Given the description of an element on the screen output the (x, y) to click on. 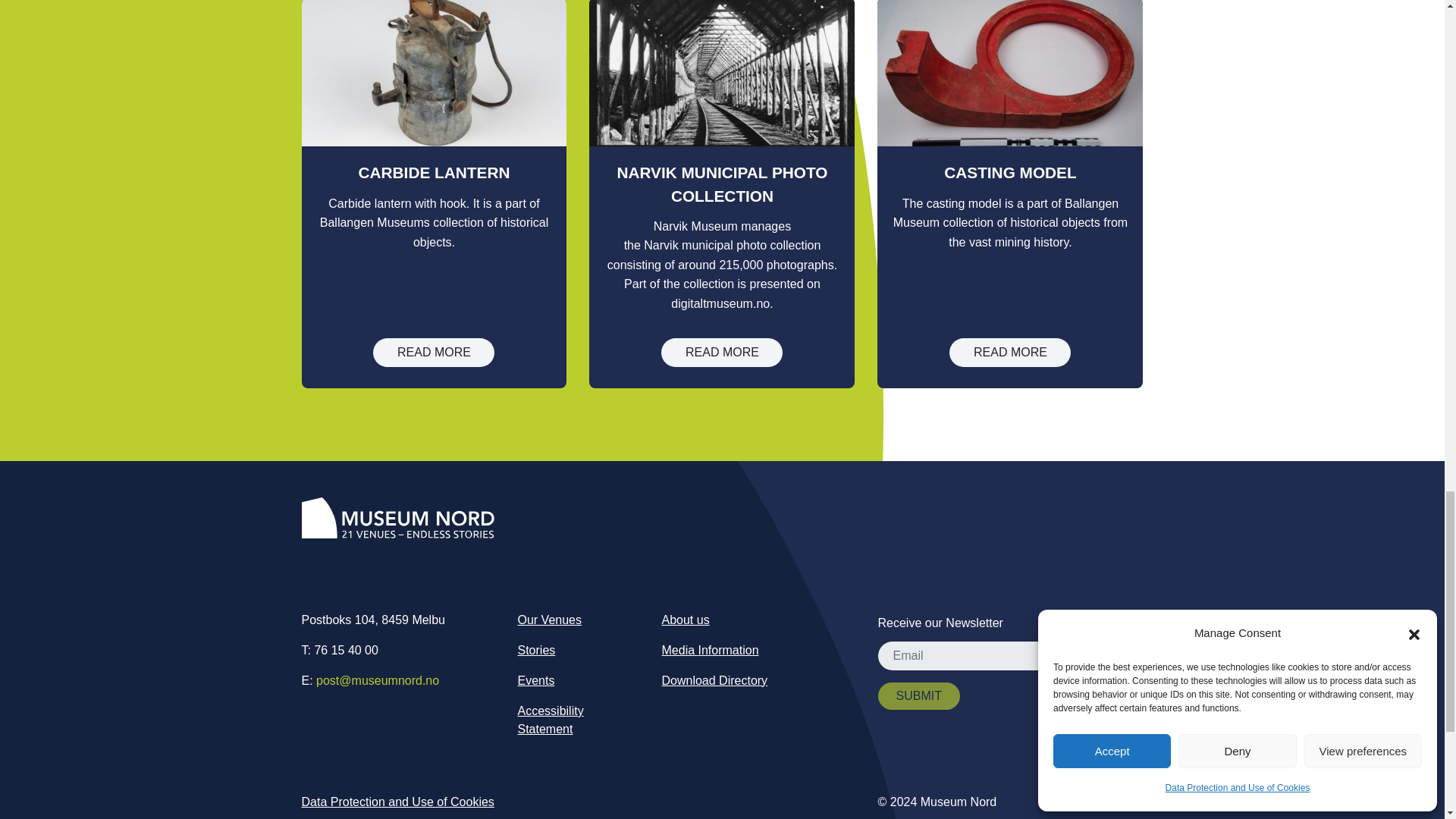
Narvik Municipal Photo Collection (722, 352)
Casting model (1009, 352)
Carbide lantern (433, 352)
